Given the description of an element on the screen output the (x, y) to click on. 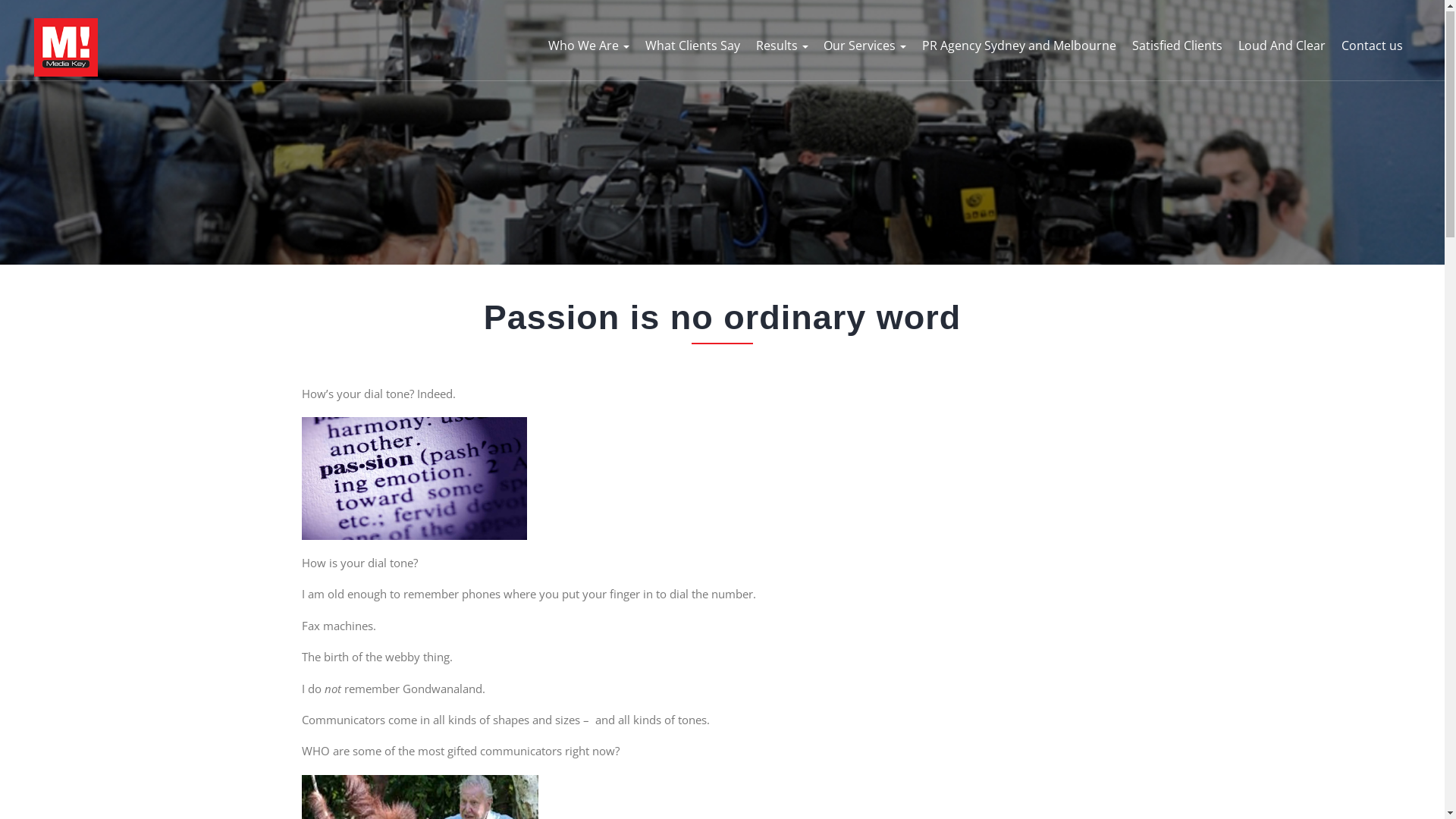
Results Element type: text (782, 45)
Our Services Element type: text (864, 45)
Contact us Element type: text (1371, 45)
Who We Are Element type: text (588, 45)
PR Agency Sydney and Melbourne Element type: text (1019, 45)
Loud And Clear Element type: text (1281, 45)
What Clients Say Element type: text (692, 45)
Satisfied Clients Element type: text (1177, 45)
